Given the description of an element on the screen output the (x, y) to click on. 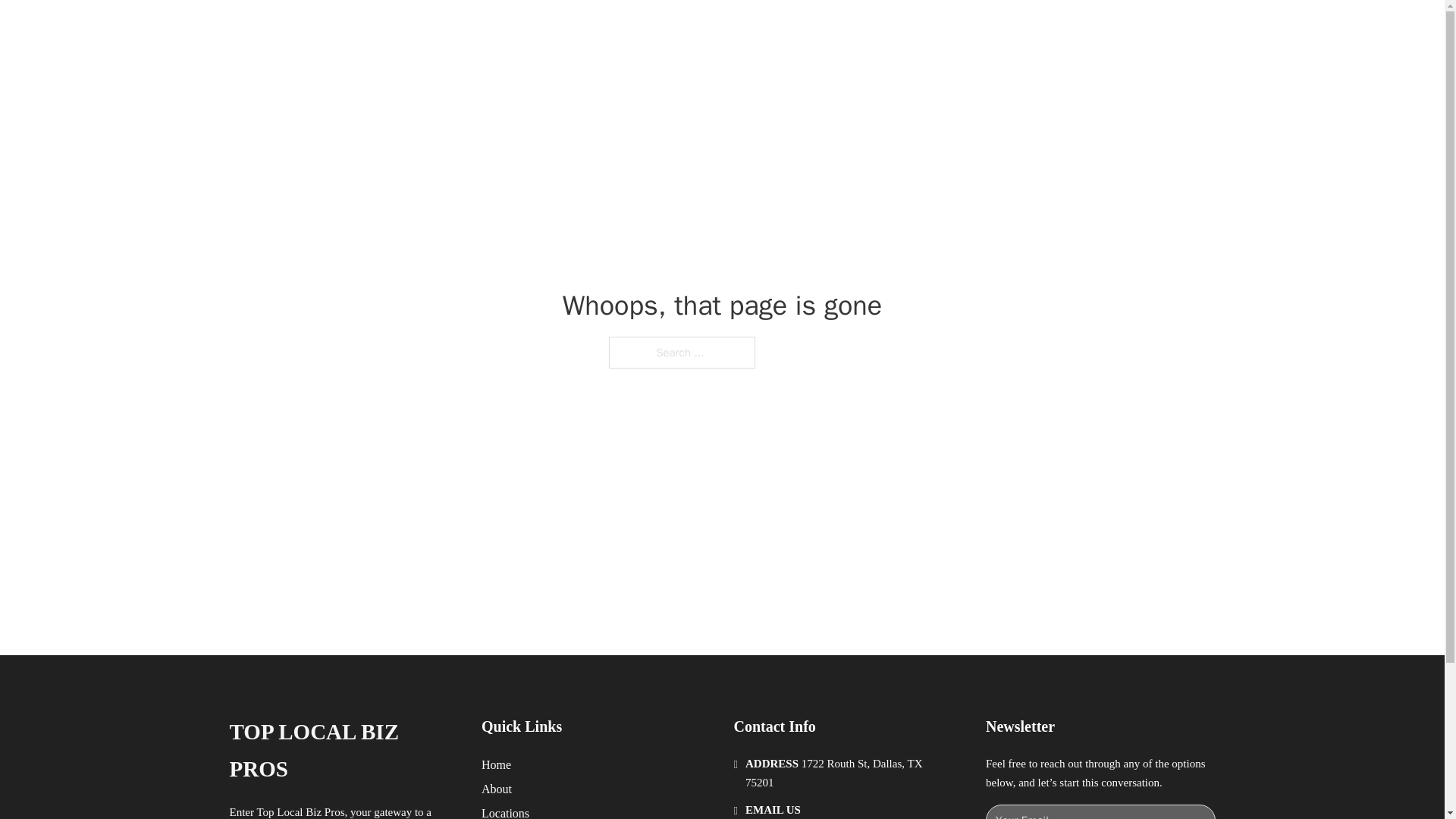
HOME (919, 29)
TOP LOCAL BIZ PROS (415, 28)
LOCATIONS (990, 29)
Home (496, 764)
About (496, 788)
TOP LOCAL BIZ PROS (343, 750)
Locations (505, 811)
